Given the description of an element on the screen output the (x, y) to click on. 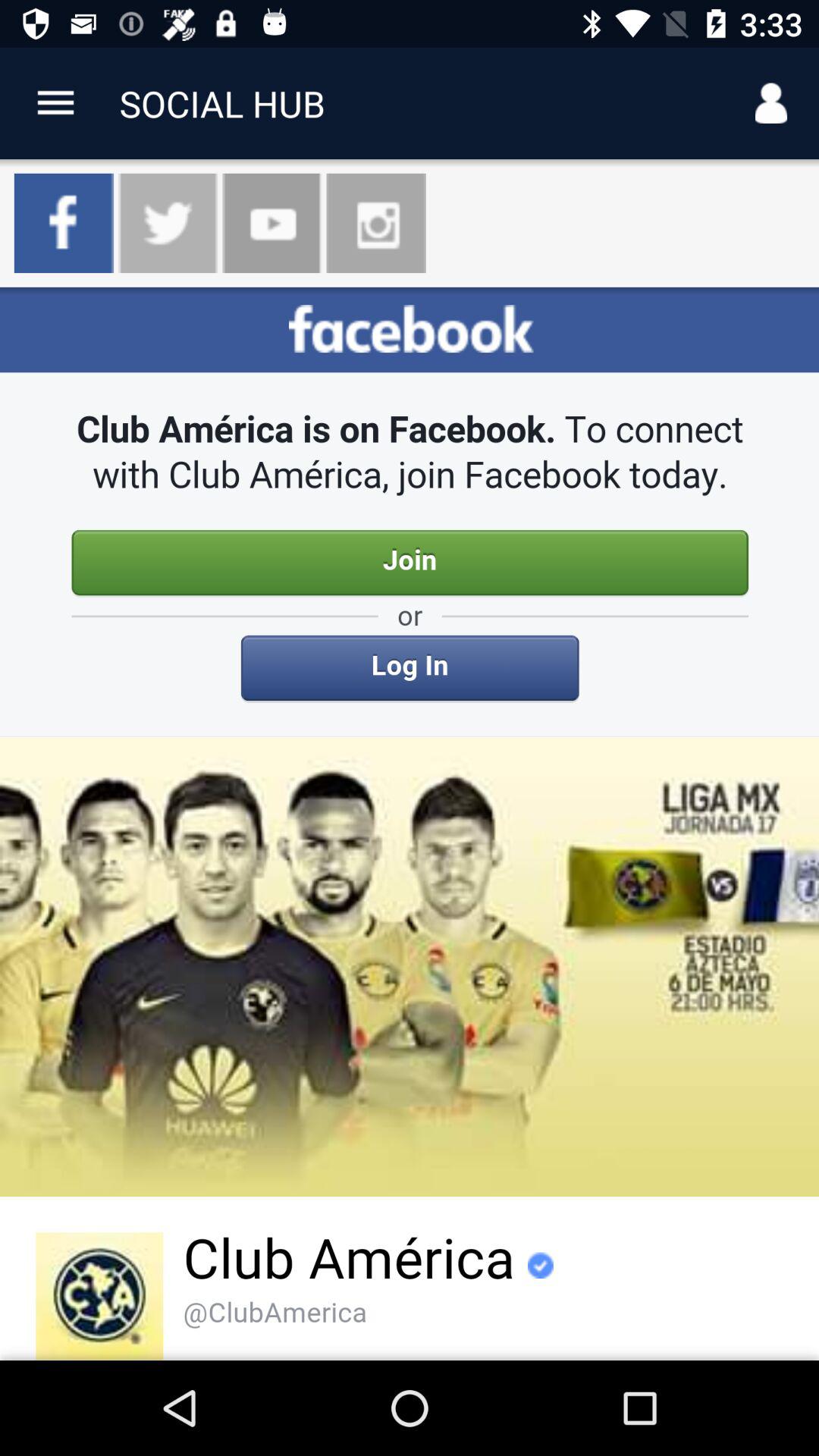
login to facebook (409, 823)
